Given the description of an element on the screen output the (x, y) to click on. 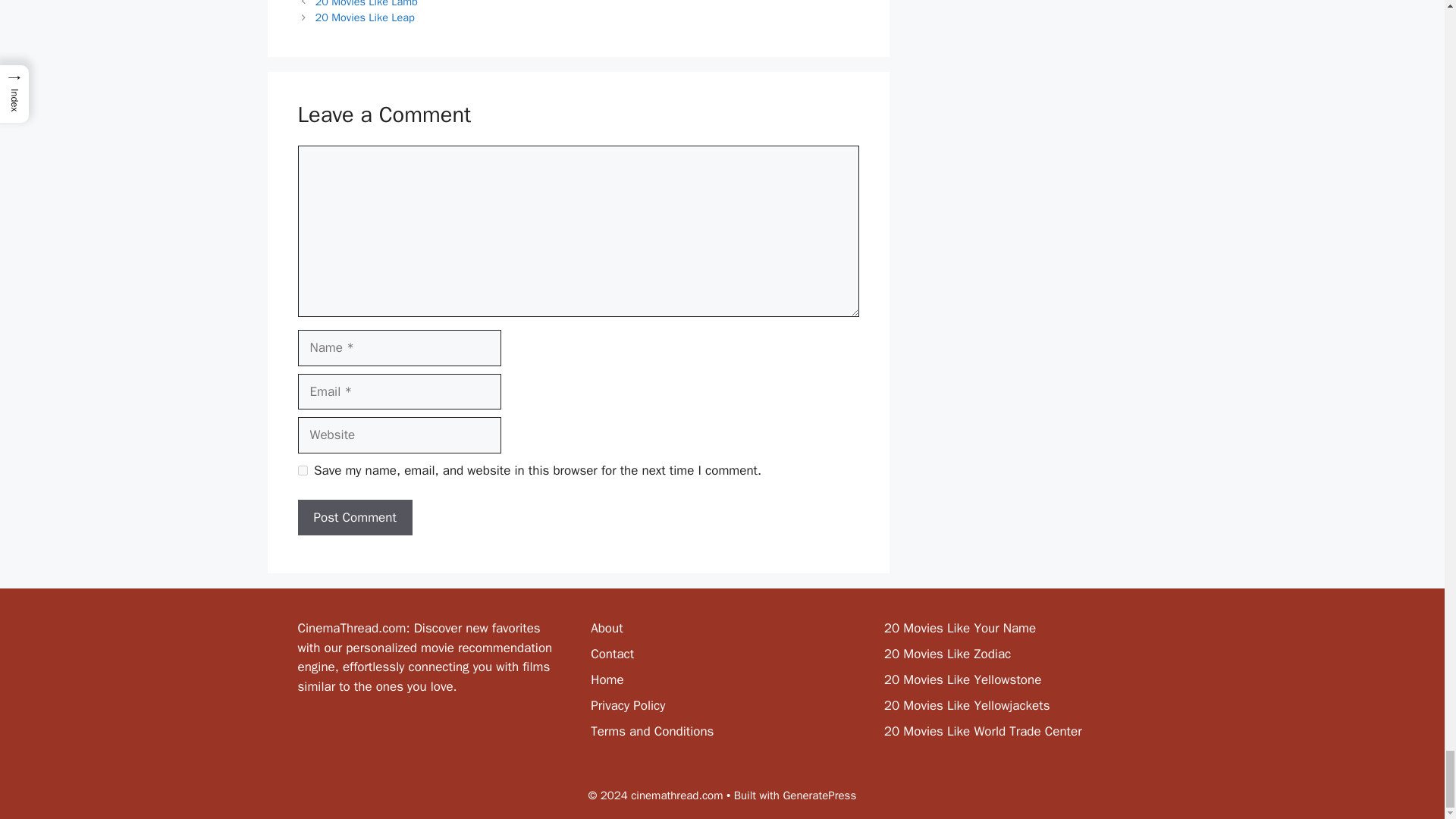
yes (302, 470)
Post Comment (354, 517)
